Given the description of an element on the screen output the (x, y) to click on. 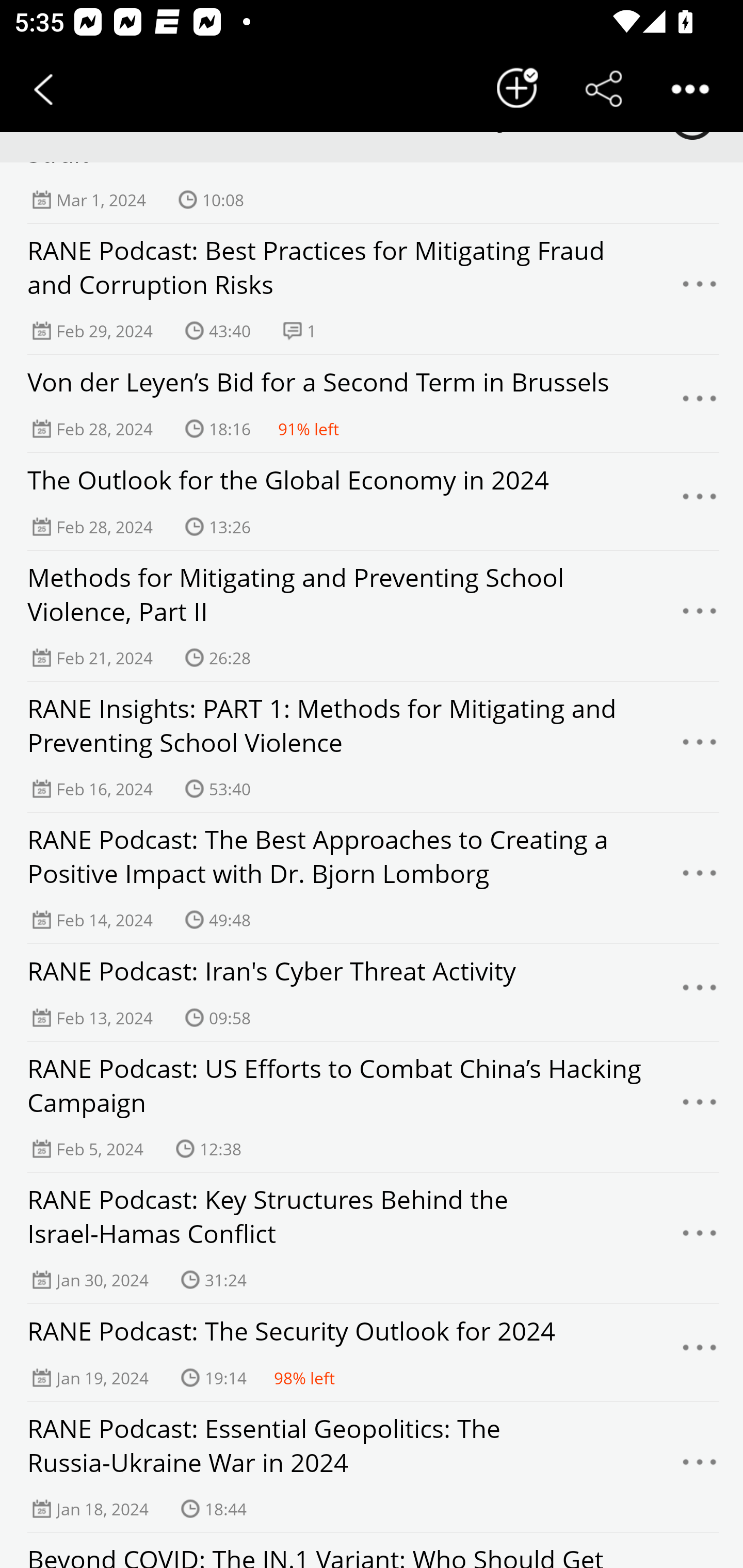
Back (43, 88)
Menu (699, 289)
Menu (699, 403)
Menu (699, 501)
Menu (699, 616)
Menu (699, 747)
Menu (699, 878)
Menu (699, 993)
Menu (699, 1107)
Menu (699, 1237)
Menu (699, 1352)
Menu (699, 1466)
